Given the description of an element on the screen output the (x, y) to click on. 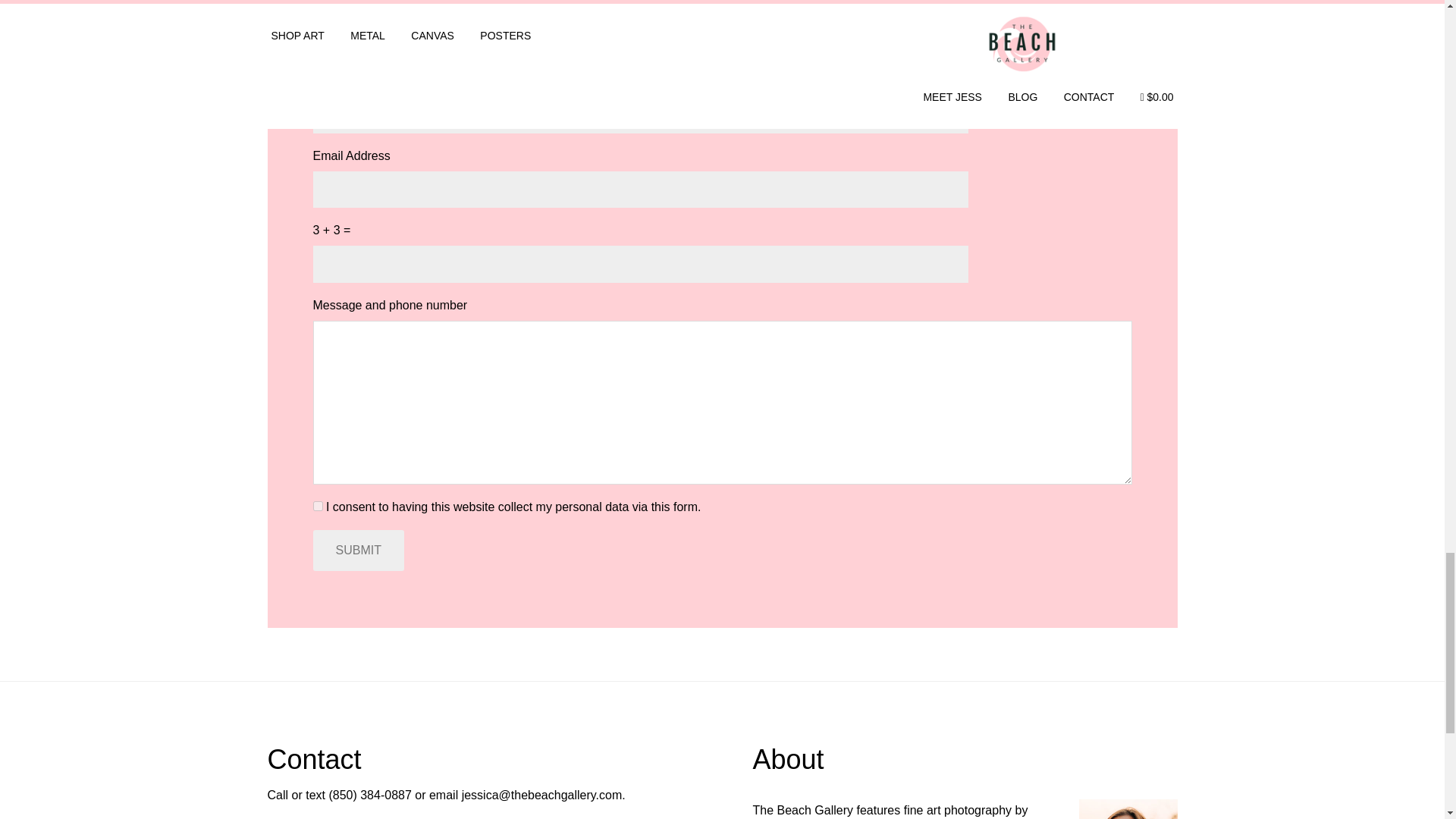
yes (317, 506)
